Given the description of an element on the screen output the (x, y) to click on. 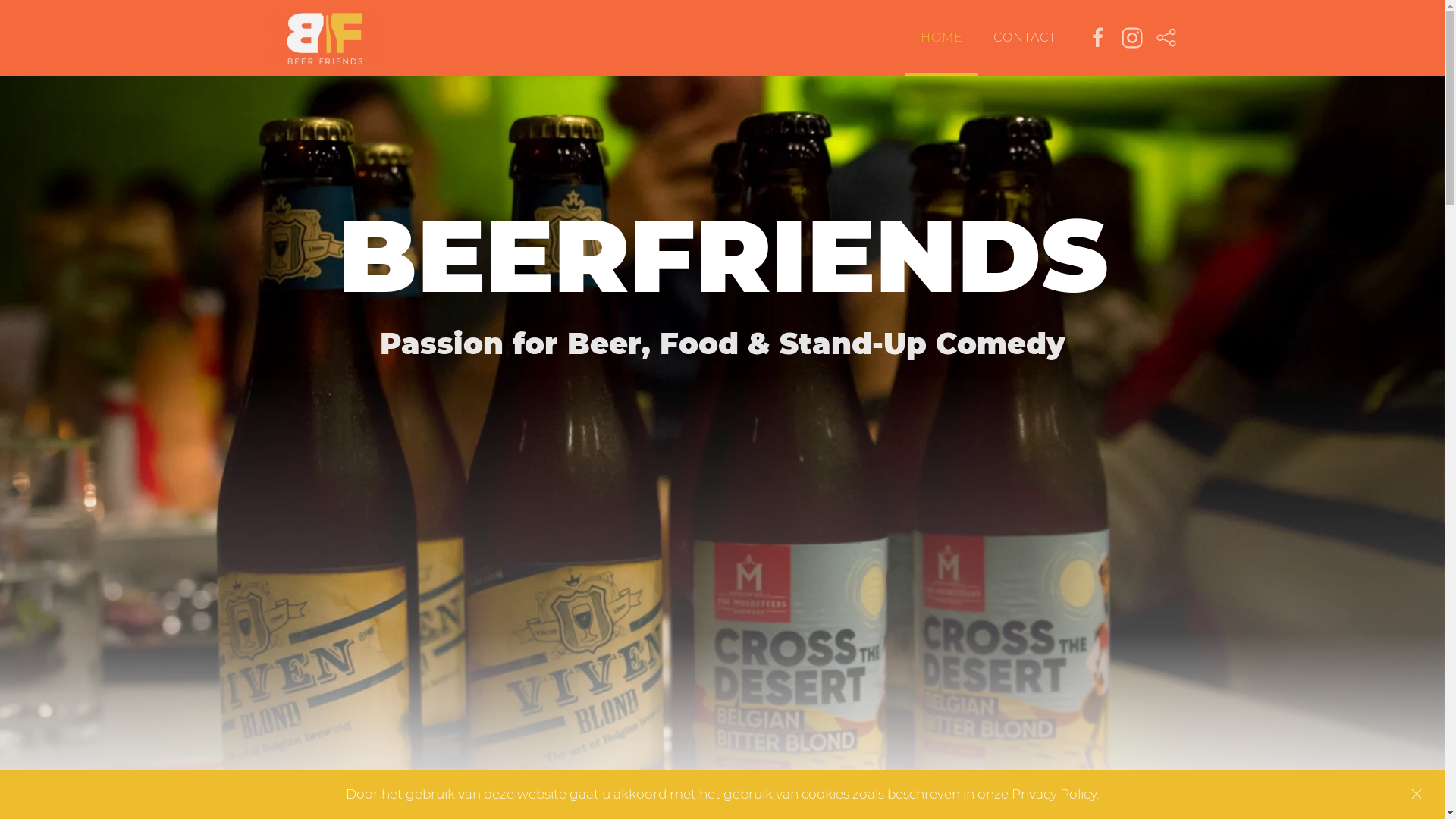
HOME Element type: text (941, 37)
CONTACT Element type: text (1024, 37)
